Given the description of an element on the screen output the (x, y) to click on. 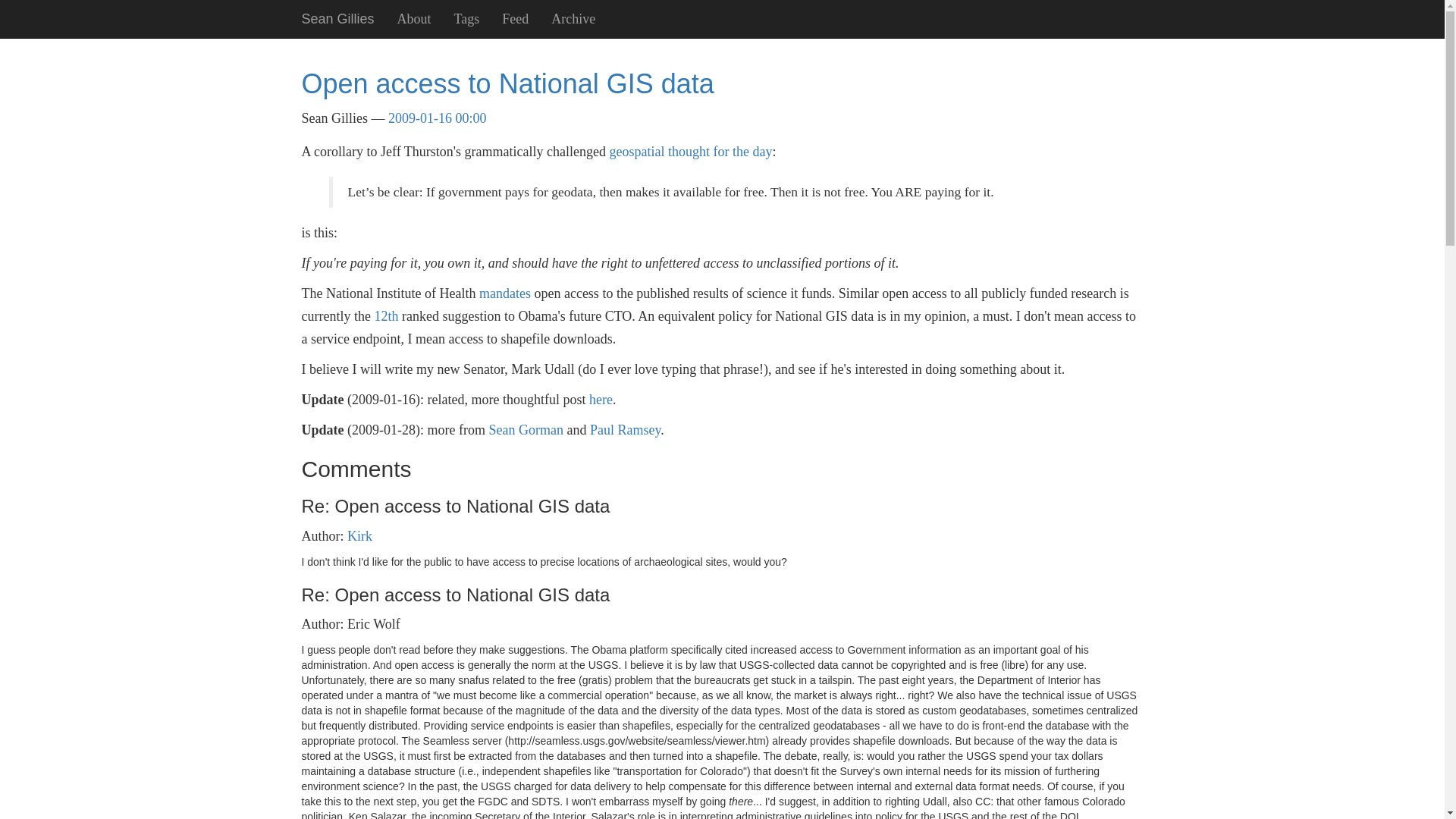
Archive (573, 18)
Sean Gorman (524, 429)
About (413, 18)
Open access to National GIS data (507, 83)
geospatial thought for the day (689, 151)
here (600, 399)
12th (385, 315)
mandates (505, 293)
2009-01-16 00:00 (437, 118)
Tags (467, 18)
Kirk (359, 535)
Sean Gillies (337, 18)
2009-01-16 00:00 (437, 118)
Feed (515, 18)
Paul Ramsey (625, 429)
